Given the description of an element on the screen output the (x, y) to click on. 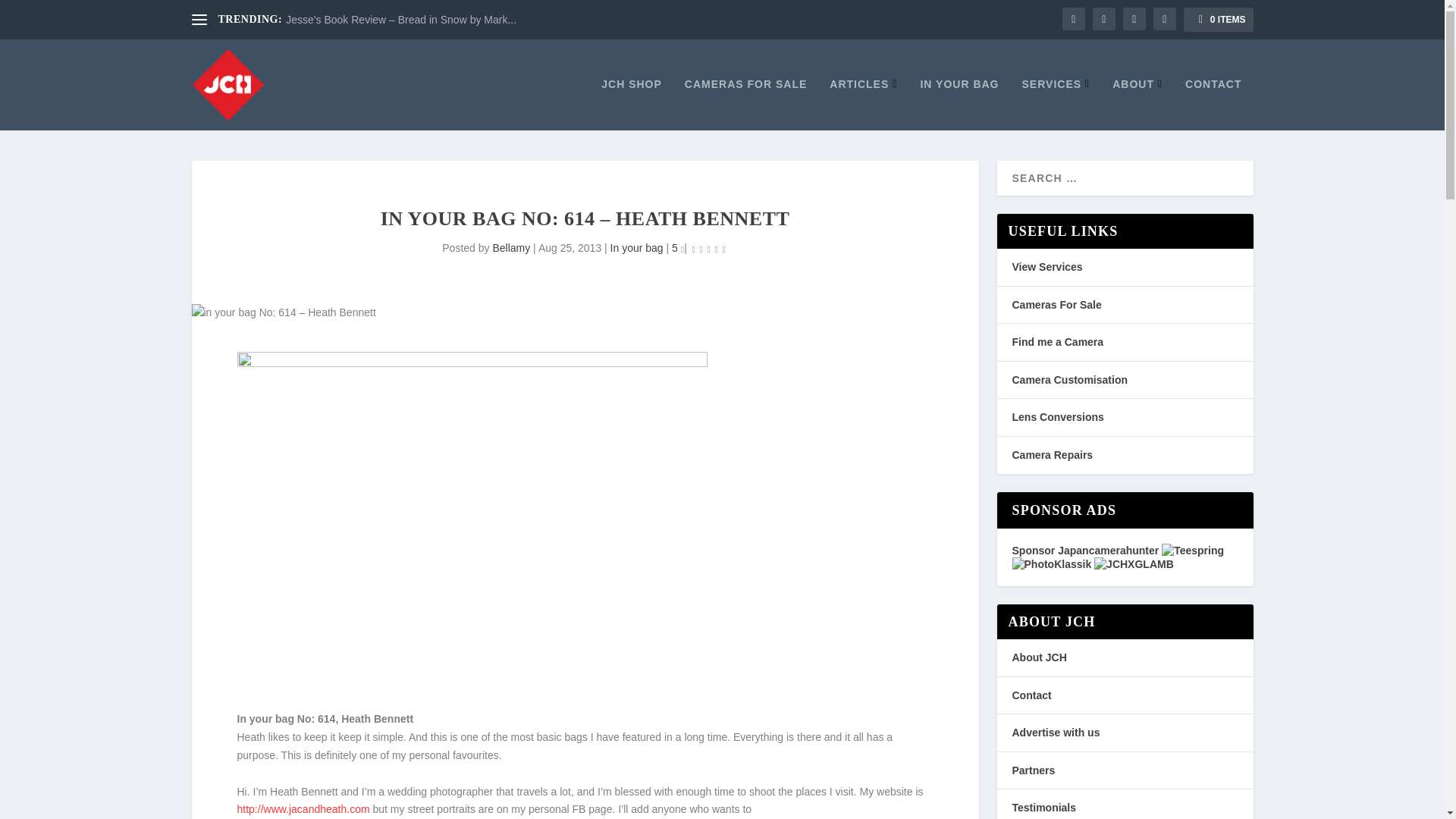
In Your Bag (959, 103)
ABout Japan Camera Hunter (1136, 103)
IN YOUR BAG (959, 103)
0 Items in Cart (1218, 19)
ARTICLES (862, 103)
SERVICES (1056, 103)
Posts by Bellamy (510, 247)
0 ITEMS (1218, 19)
Rating: 0.00 (709, 248)
JCH SHOP (631, 103)
ABOUT (1136, 103)
CAMERAS FOR SALE (745, 103)
